Given the description of an element on the screen output the (x, y) to click on. 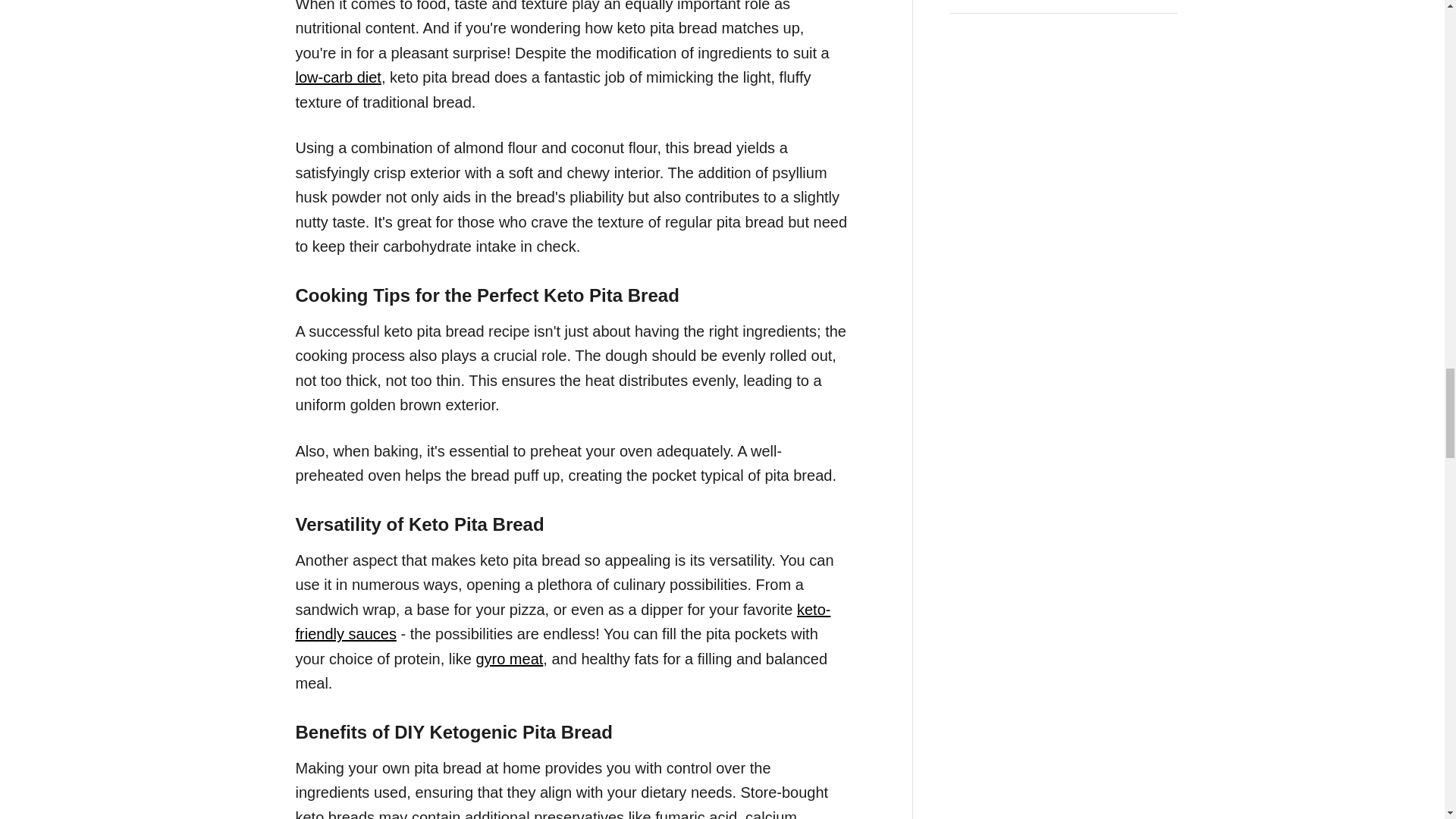
gyro meat (509, 658)
low-carb diet (338, 76)
keto-friendly sauces (563, 621)
